Given the description of an element on the screen output the (x, y) to click on. 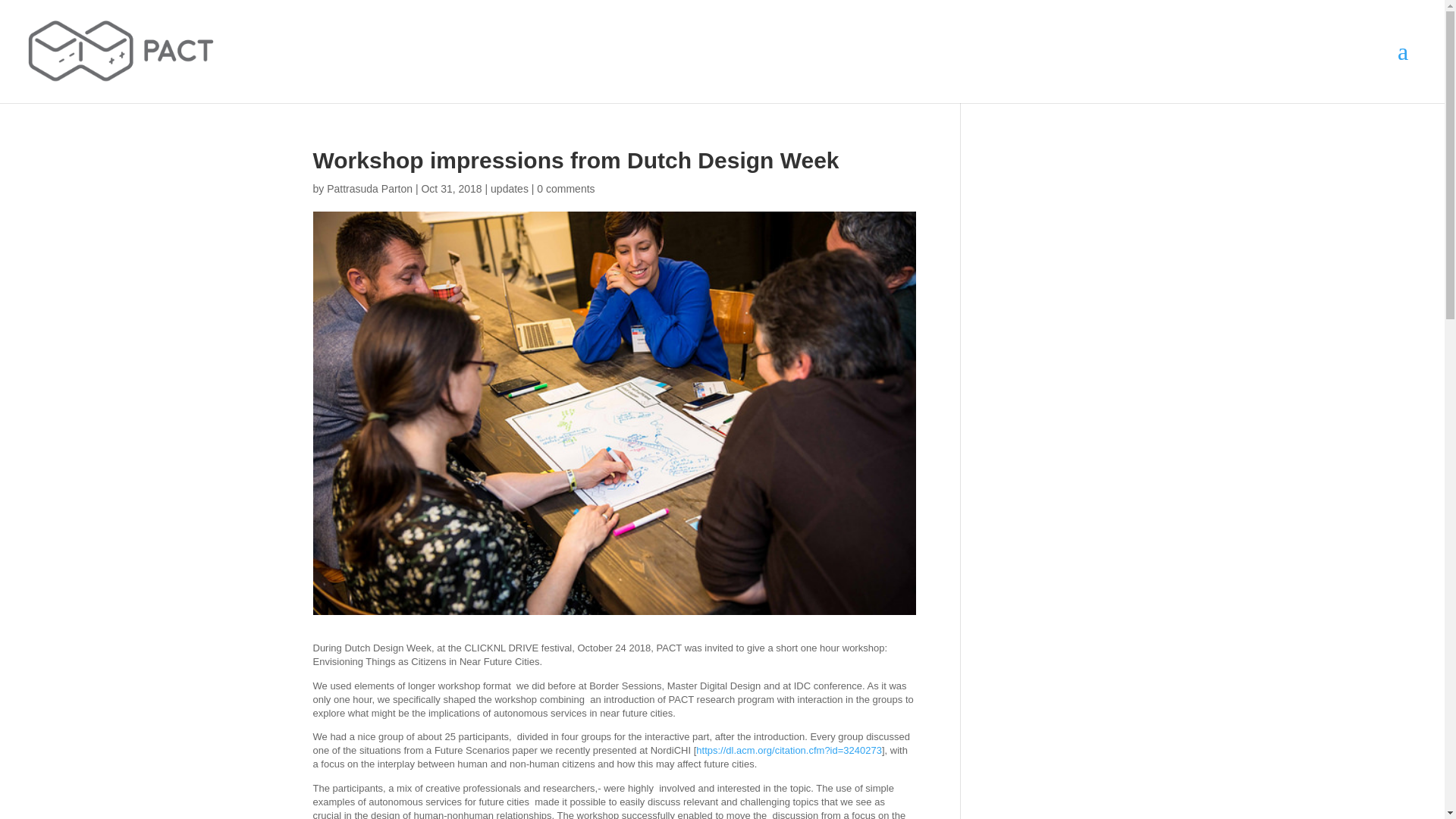
updates (509, 188)
Pattrasuda Parton (369, 188)
Posts by Pattrasuda Parton (369, 188)
0 comments (565, 188)
